Given the description of an element on the screen output the (x, y) to click on. 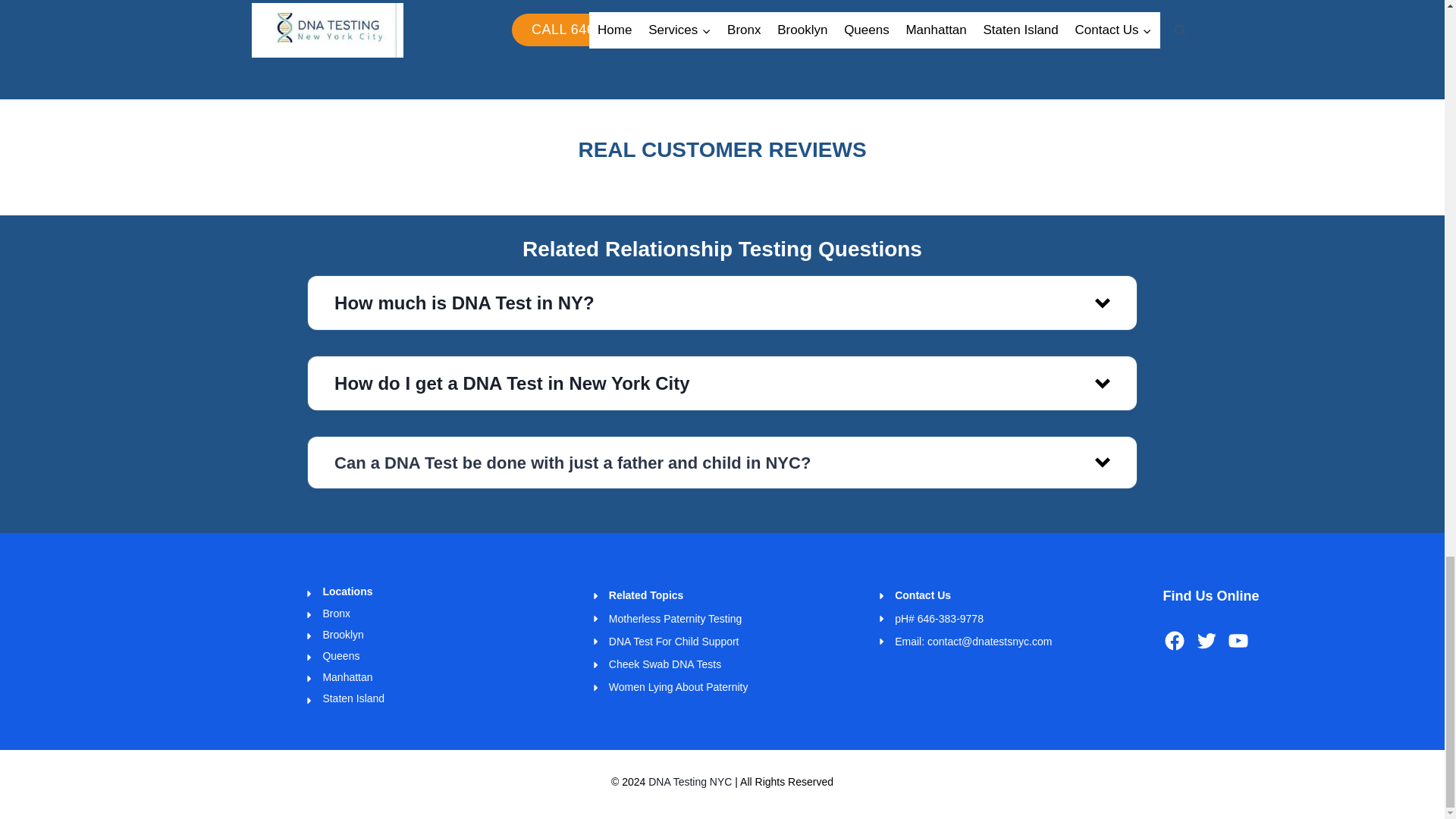
CALL 646-383-9778 FOR APPOINTMENTS (680, 29)
Queens (340, 655)
Motherless Paternity Testing (675, 618)
Staten Island (352, 698)
Bronx (335, 613)
Manhattan (346, 676)
Brooklyn (341, 634)
